Given the description of an element on the screen output the (x, y) to click on. 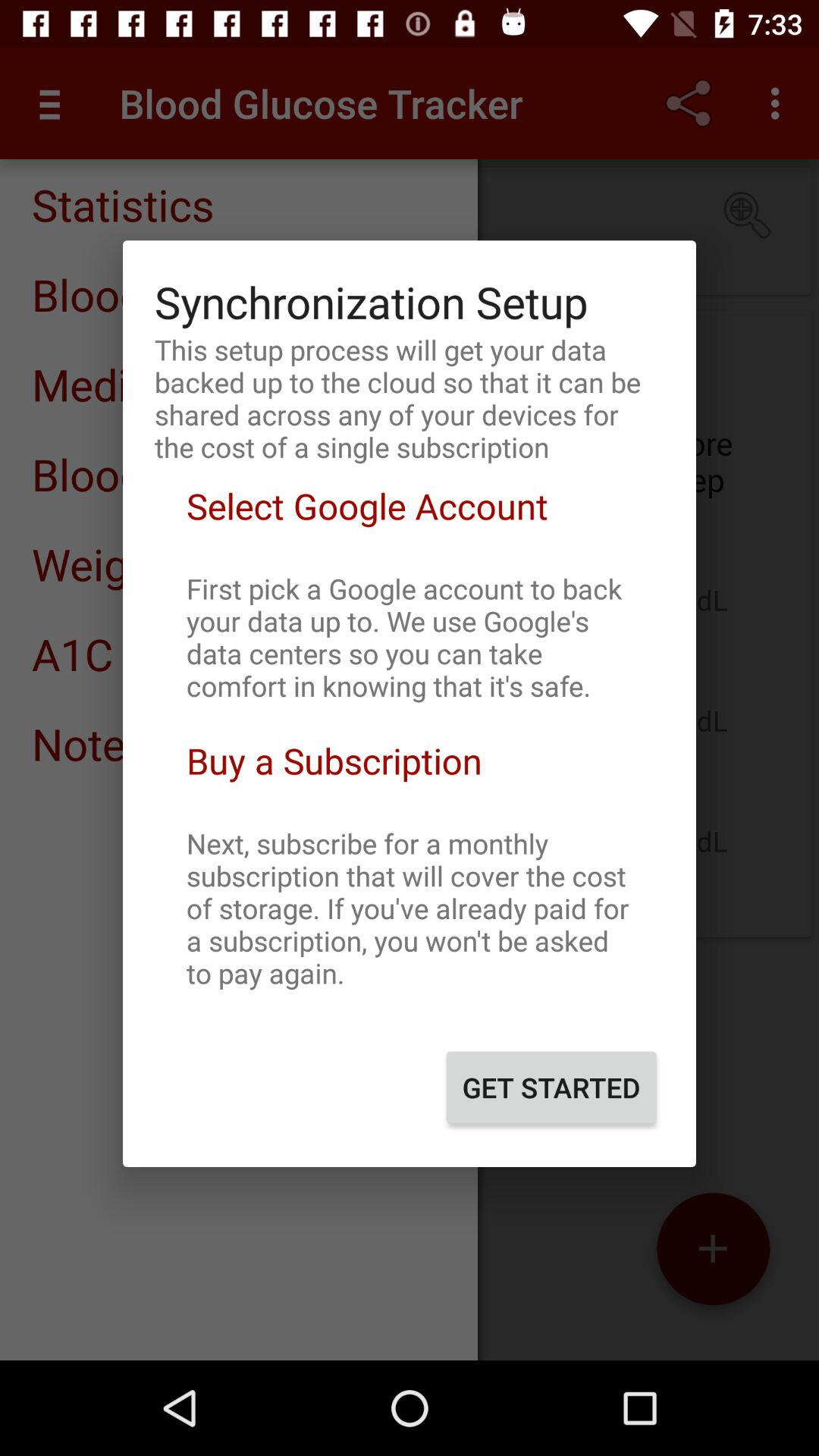
open get started button (551, 1087)
